Given the description of an element on the screen output the (x, y) to click on. 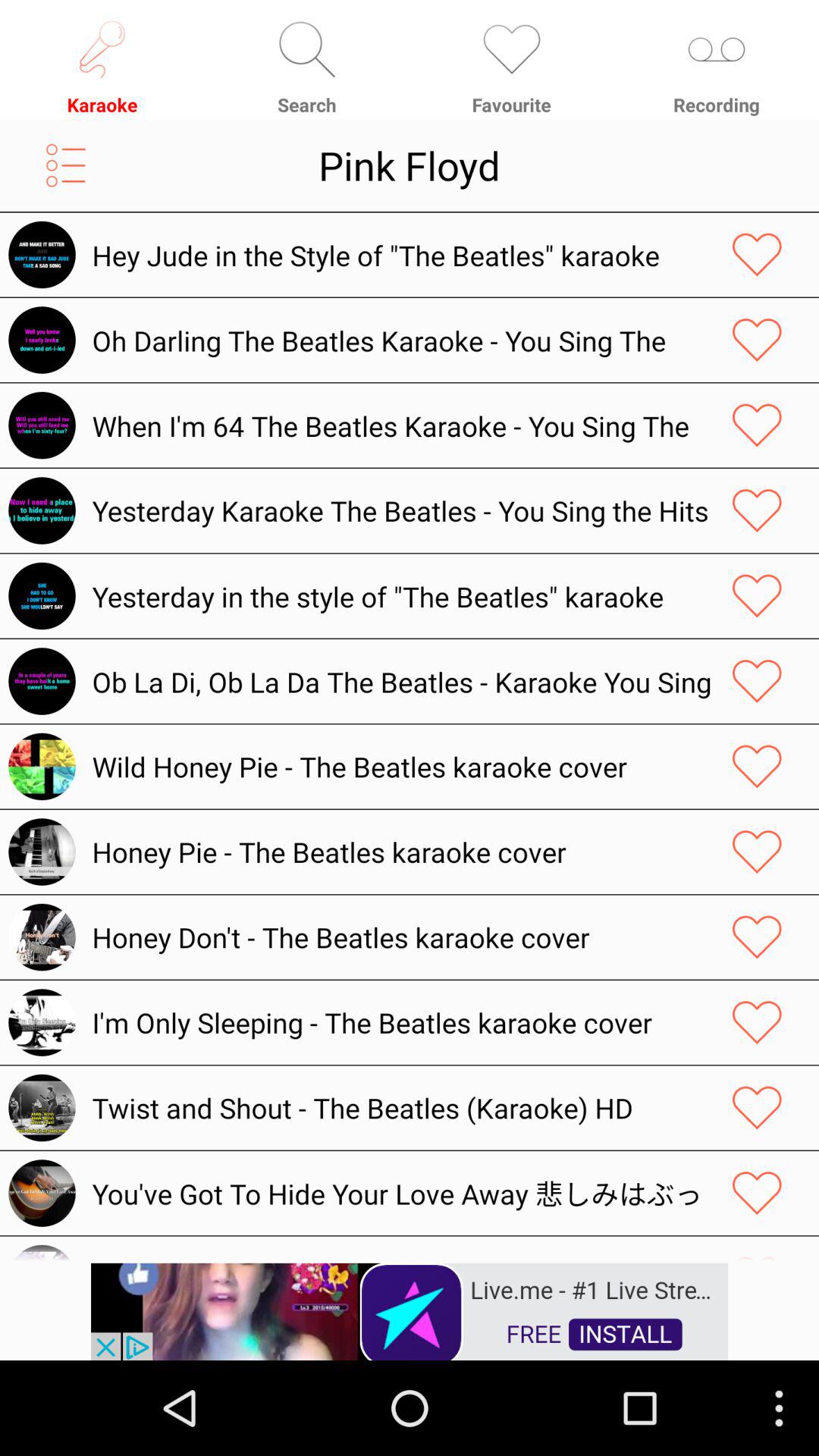
love track (756, 1107)
